Given the description of an element on the screen output the (x, y) to click on. 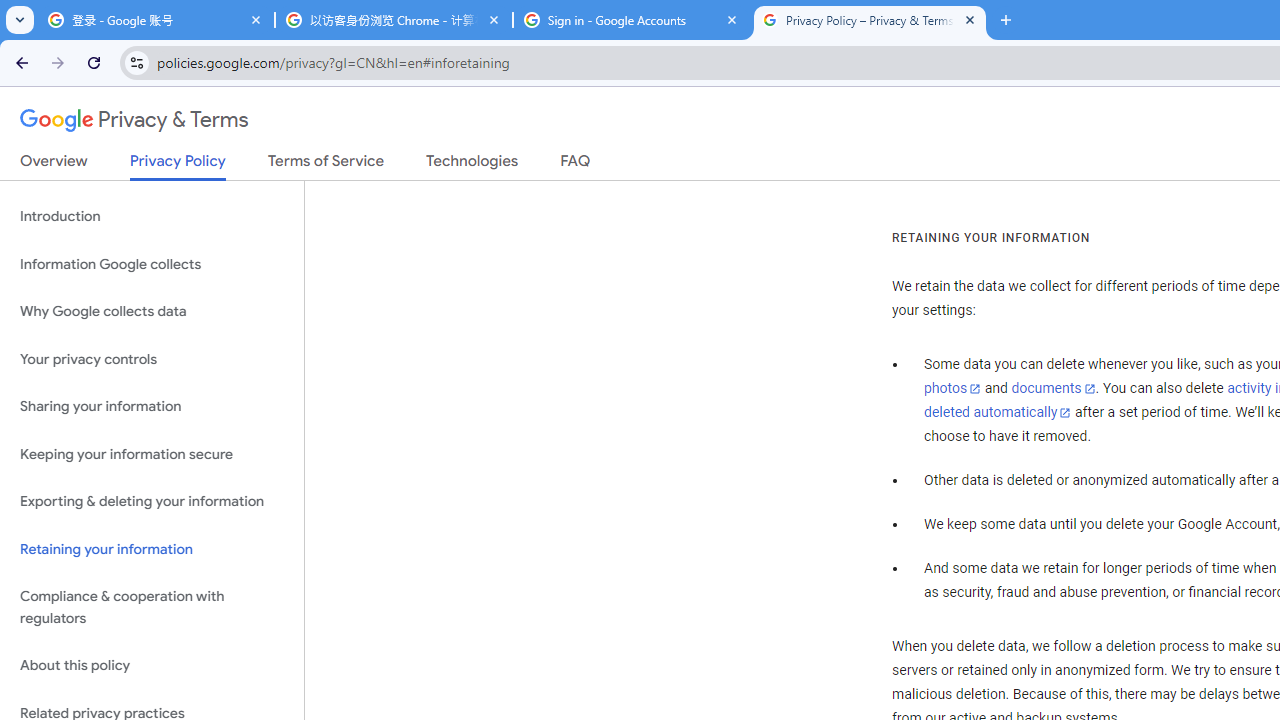
Exporting & deleting your information (152, 502)
photos (952, 389)
